Given the description of an element on the screen output the (x, y) to click on. 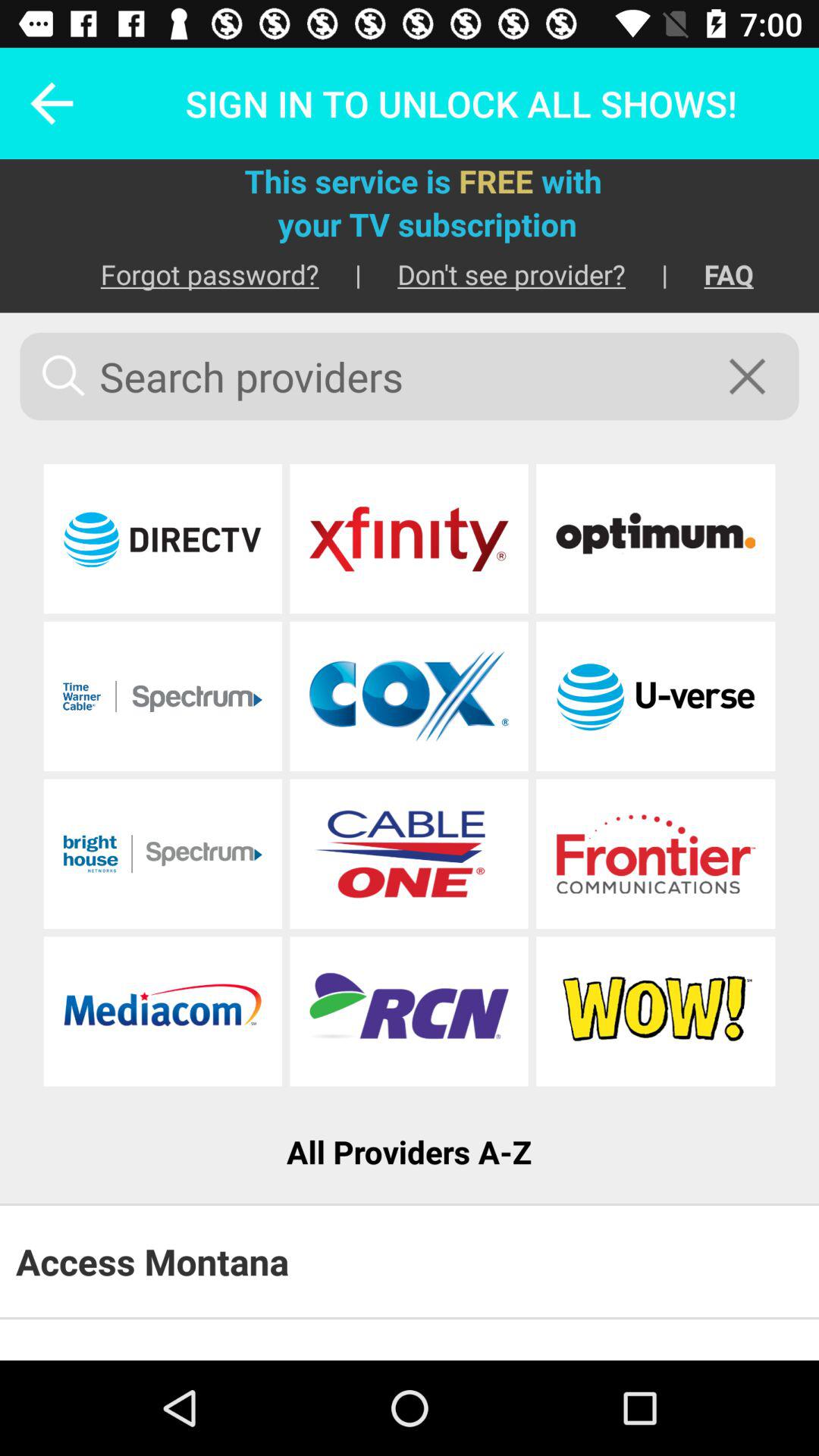
go back (41, 103)
